Given the description of an element on the screen output the (x, y) to click on. 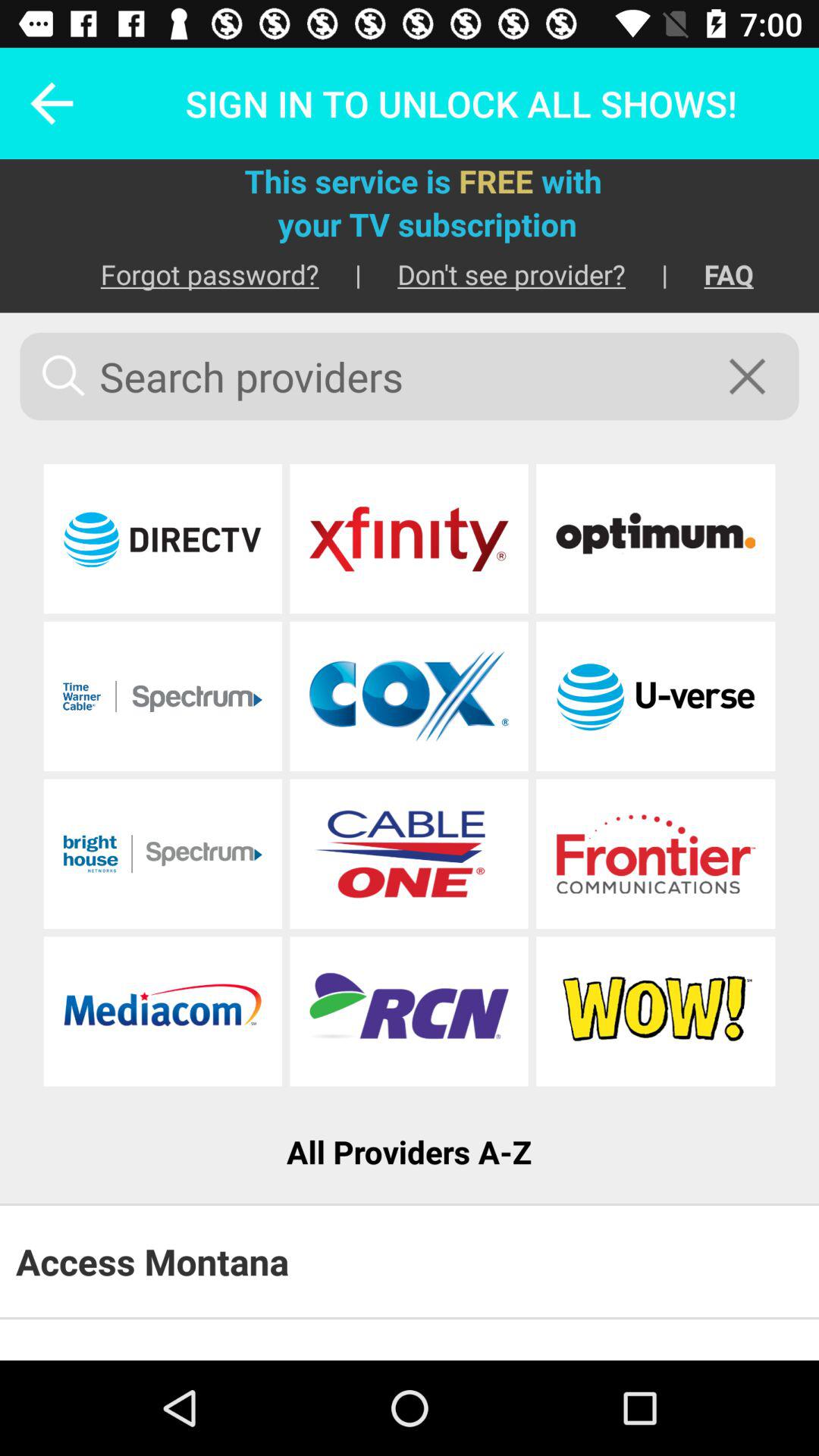
go back (41, 103)
